Given the description of an element on the screen output the (x, y) to click on. 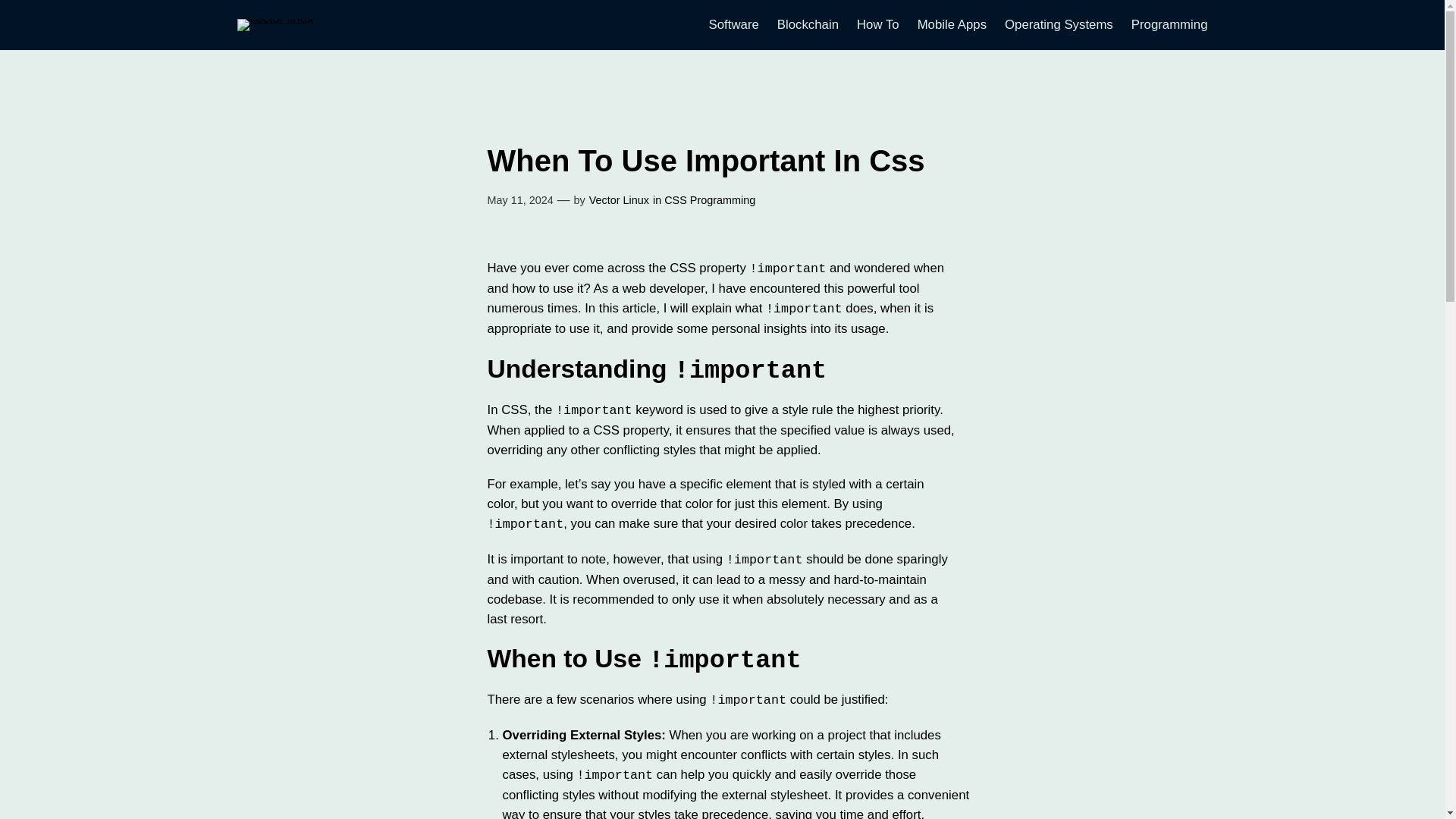
Programming (1169, 25)
CSS Programming (709, 200)
May 11, 2024 (519, 200)
Mobile Apps (952, 25)
Operating Systems (1058, 25)
Blockchain (807, 25)
Software (733, 25)
How To (878, 25)
Vector Linux (619, 200)
